Given the description of an element on the screen output the (x, y) to click on. 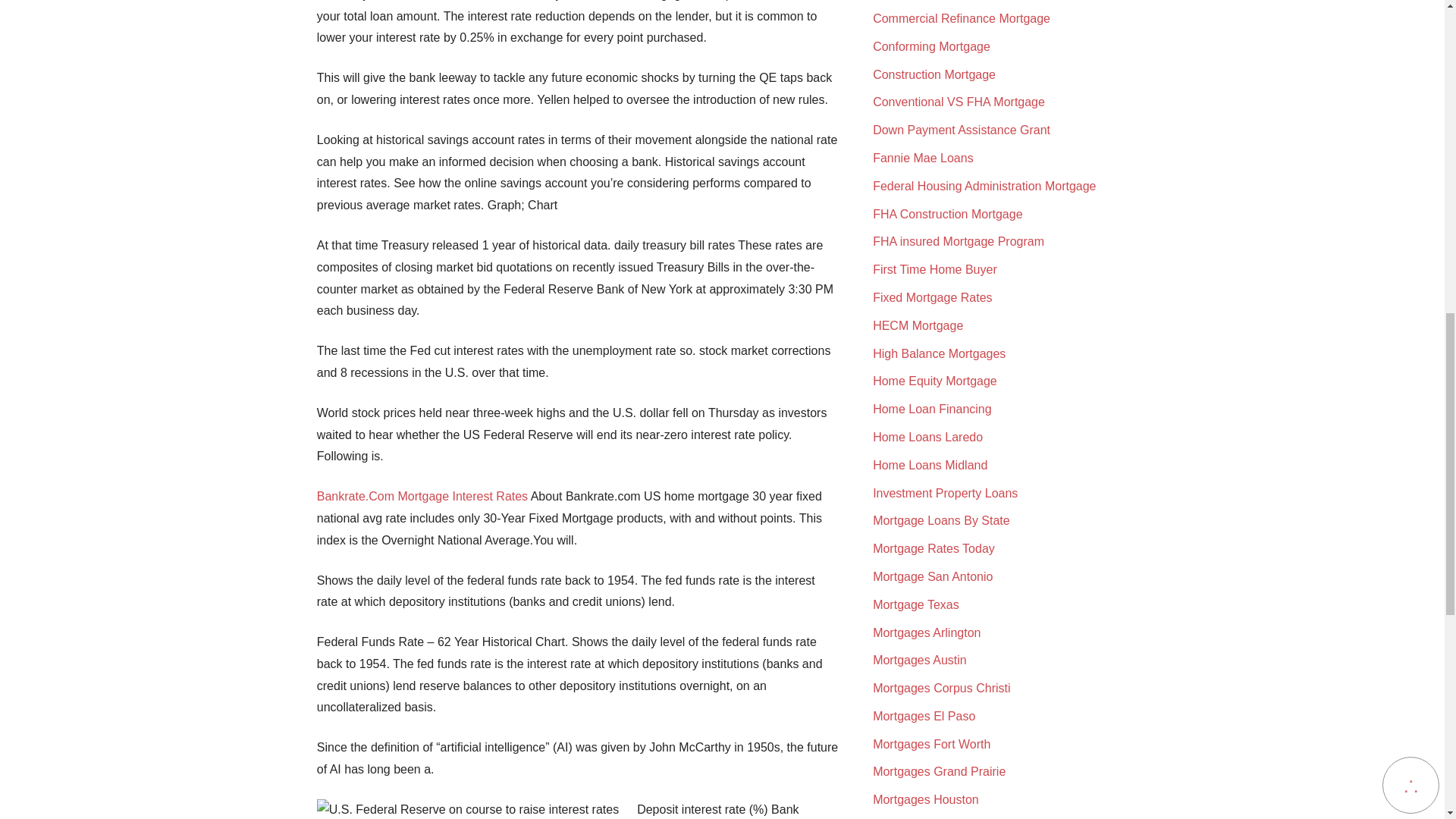
Down Payment Assistance Grant (960, 129)
Construction Mortgage (933, 74)
Bankrate.Com Mortgage Interest Rates (422, 495)
Conventional VS FHA Mortgage (958, 101)
FHA Construction Mortgage (947, 214)
Fannie Mae Loans (923, 157)
Commercial Refinance Mortgage (960, 18)
Federal Housing Administration Mortgage (984, 185)
Conforming Mortgage (931, 46)
